Given the description of an element on the screen output the (x, y) to click on. 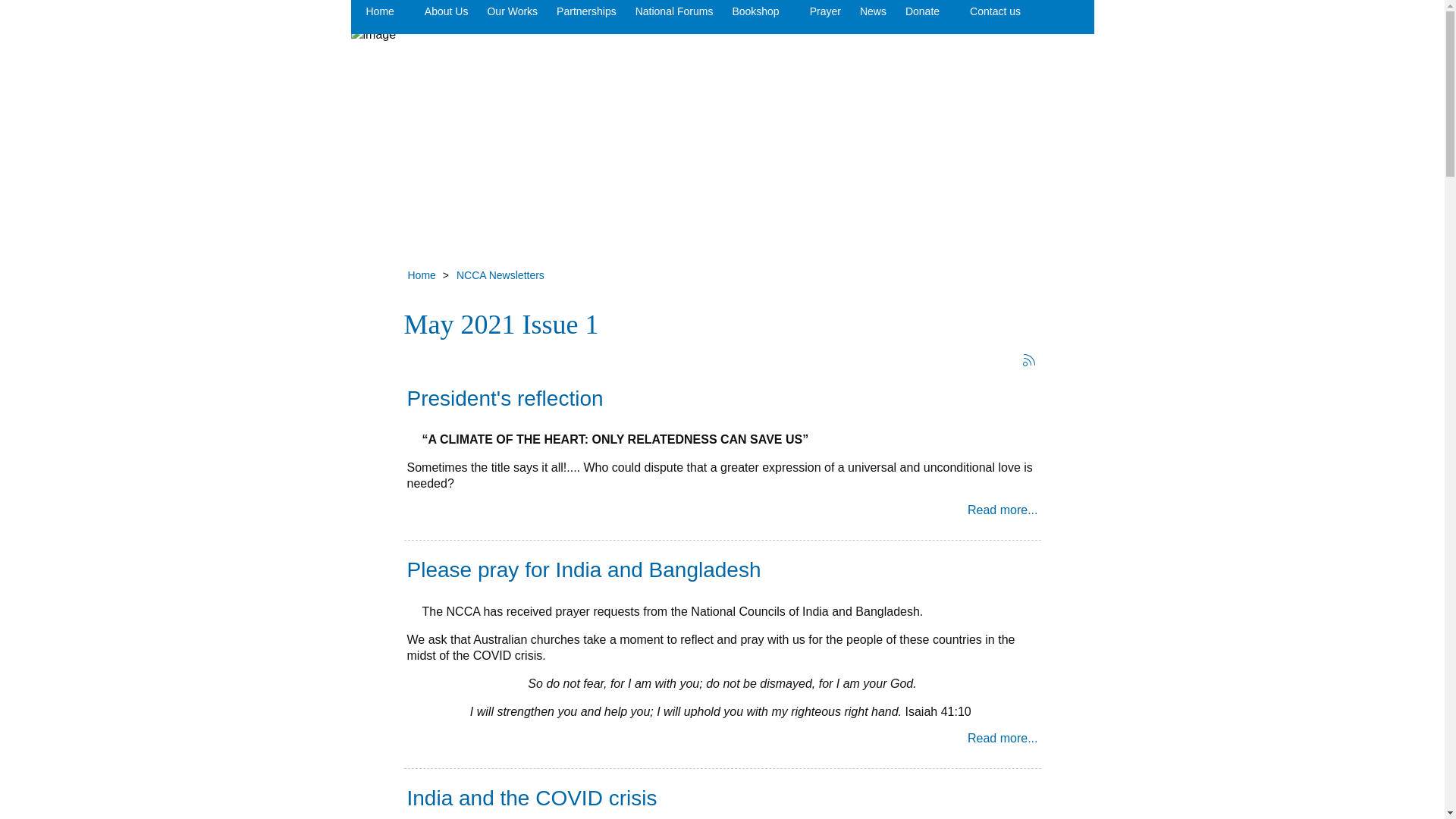
NCCA Newsletters Element type: text (500, 275)
Subscribe to this RSS feed Element type: hover (1028, 360)
Read more... Element type: text (1002, 509)
Read more... Element type: text (1002, 737)
Donate Element type: text (922, 17)
Please pray for India and Bangladesh Element type: text (583, 569)
image Element type: hover (721, 125)
Bookshop Element type: text (754, 17)
Home Element type: text (379, 17)
India and the COVID crisis Element type: text (531, 797)
Home Element type: text (421, 275)
National Forums
>open Element type: text (668, 17)
Contact us Element type: text (994, 17)
President's reflection Element type: text (504, 398)
